Given the description of an element on the screen output the (x, y) to click on. 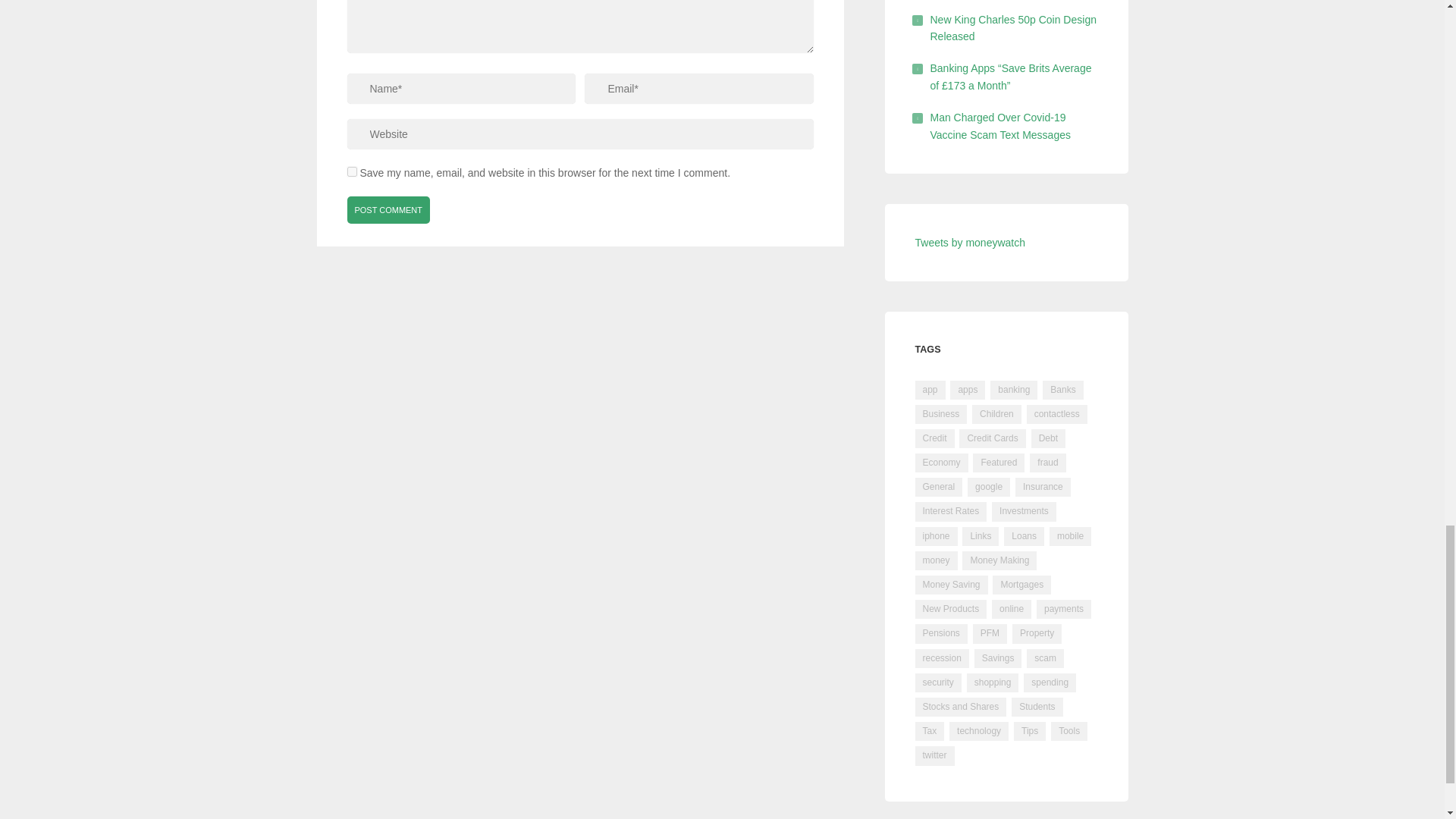
Tweets by moneywatch (969, 242)
New King Charles 50p Coin Design Released (1013, 27)
yes (351, 171)
Post Comment (388, 209)
Post Comment (388, 209)
Man Charged Over Covid-19 Vaccine Scam Text Messages (1000, 125)
